Given the description of an element on the screen output the (x, y) to click on. 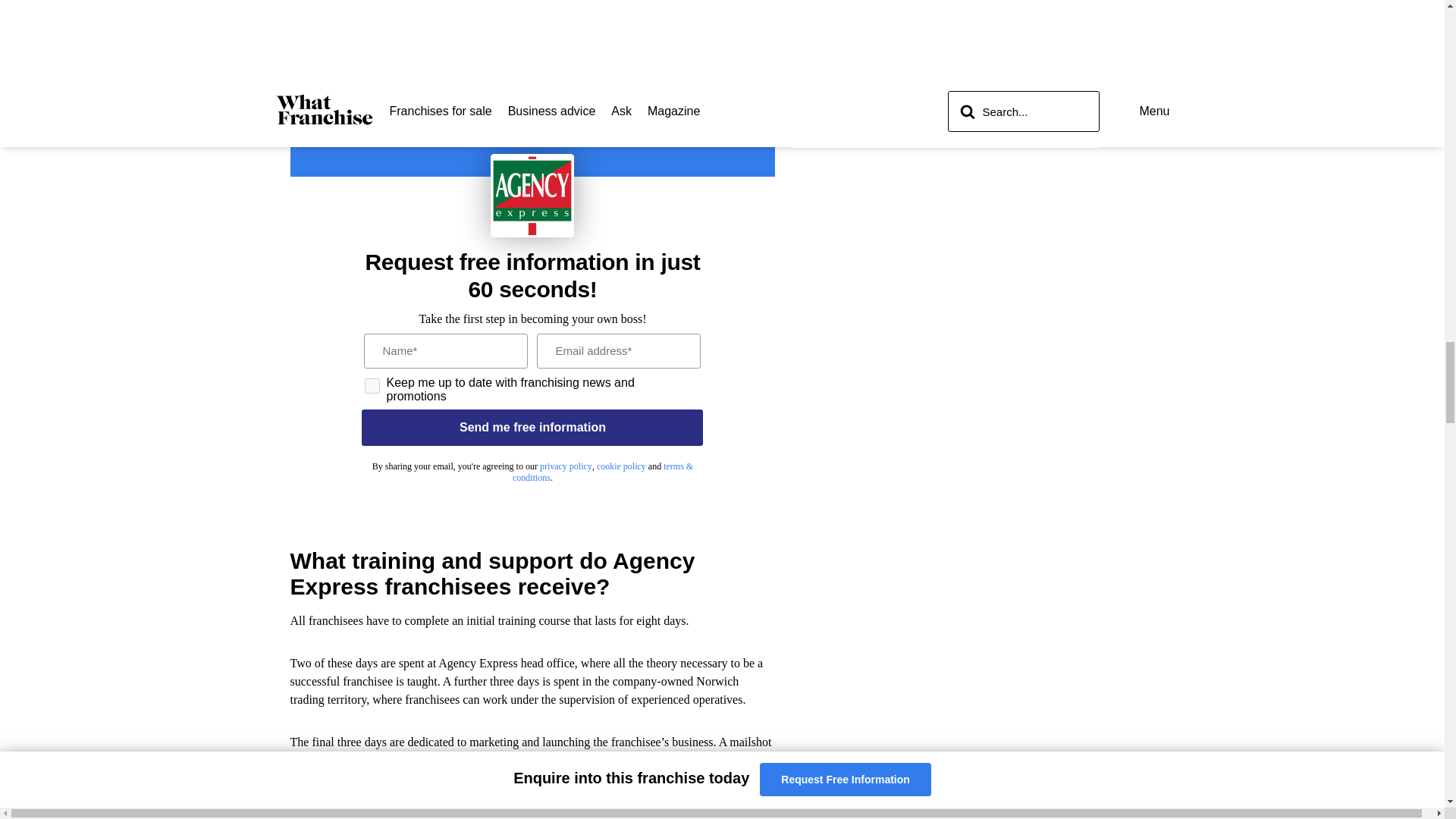
true (372, 385)
